Given the description of an element on the screen output the (x, y) to click on. 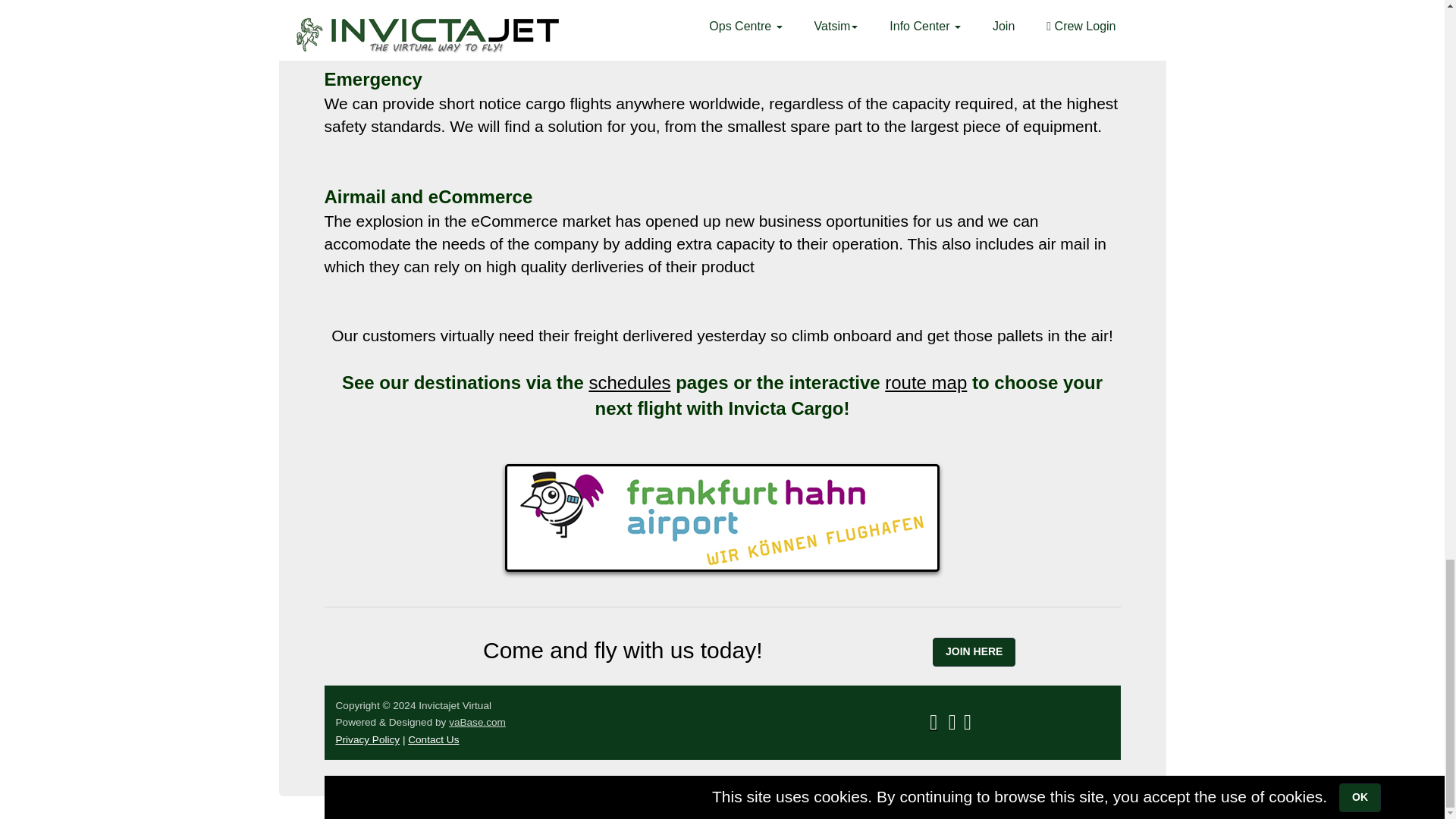
schedules (628, 382)
route map (925, 382)
